Given the description of an element on the screen output the (x, y) to click on. 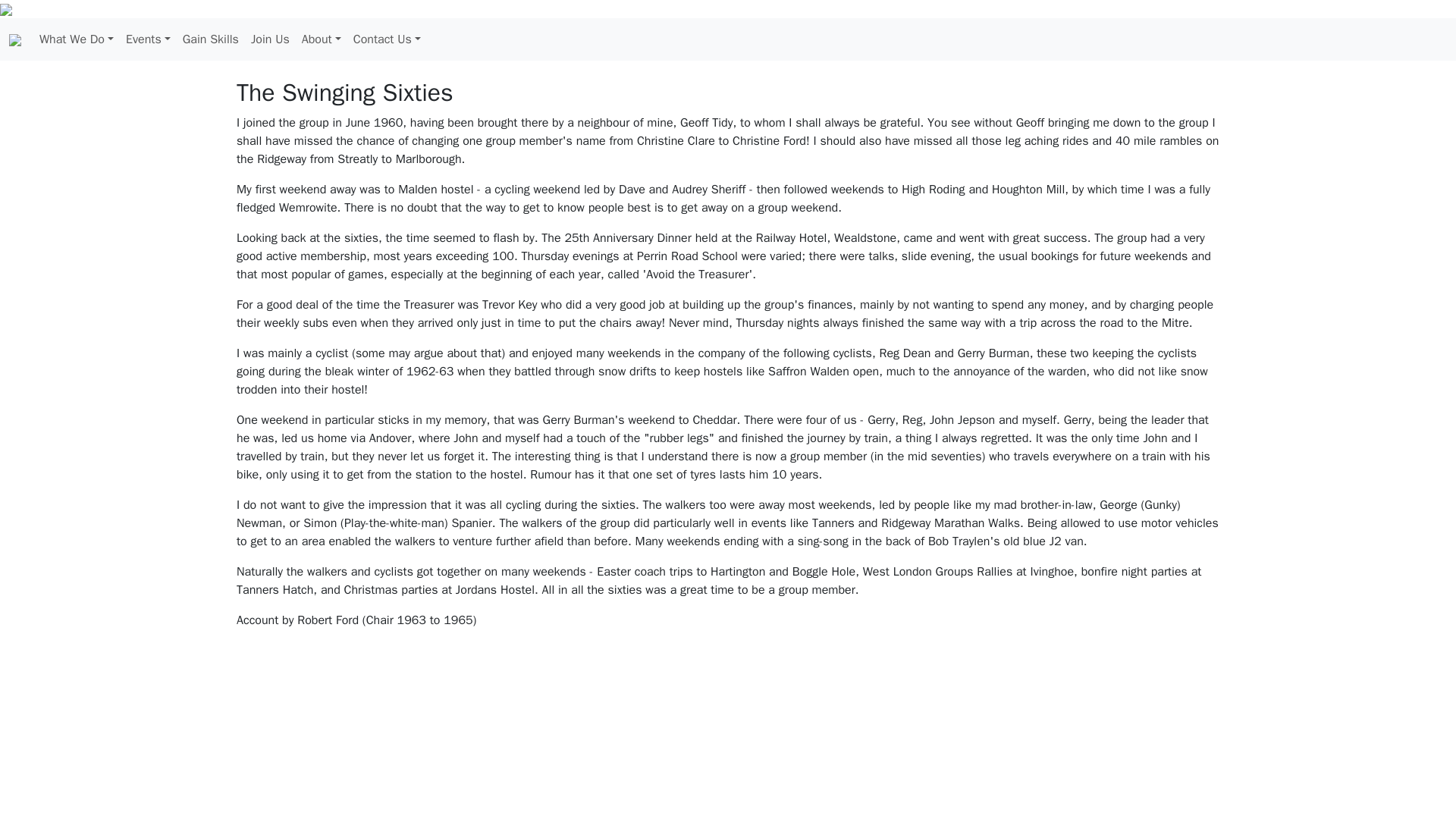
Contact Us (386, 39)
About (321, 39)
Events (147, 39)
What We Do (76, 39)
Gain Skills (210, 39)
Join Us (269, 39)
